Given the description of an element on the screen output the (x, y) to click on. 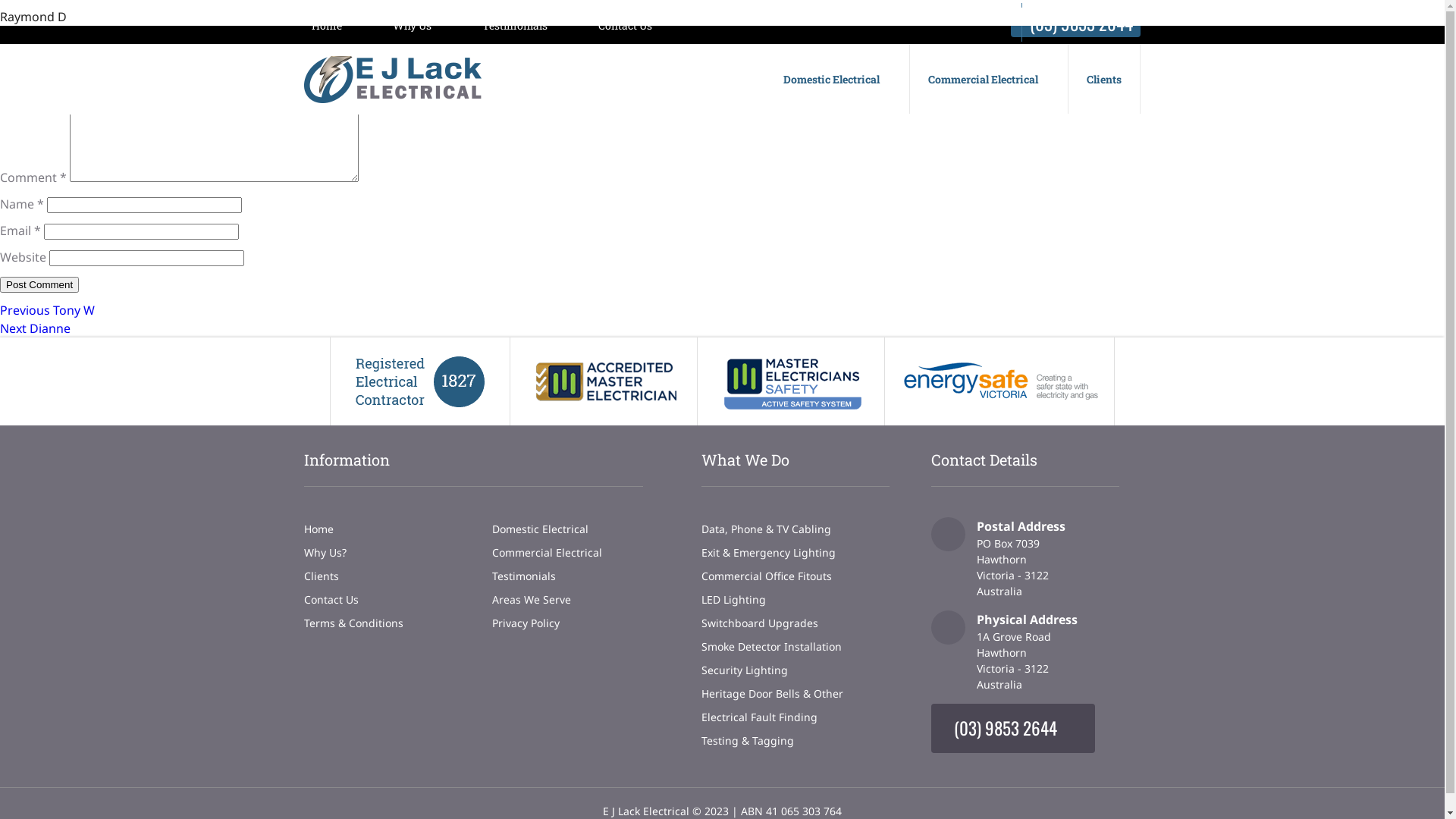
Switchboard Upgrades Element type: text (759, 622)
Privacy Policy Element type: text (525, 622)
Areas We Serve Element type: text (531, 599)
Electrical Fault Finding Element type: text (759, 716)
Why Us Element type: text (412, 25)
Exit & Emergency Lighting Element type: text (768, 552)
Contact Us Element type: text (624, 25)
Smoke Detector Installation Element type: text (771, 646)
Domestic Electrical Element type: text (837, 78)
Why Us? Element type: text (325, 552)
Terms & Conditions Element type: text (353, 622)
Testimonials Element type: text (523, 575)
Commercial Office Fitouts Element type: text (766, 575)
Commercial Electrical Element type: text (547, 552)
LED Lighting Element type: text (733, 599)
Testing & Tagging Element type: text (747, 740)
(03) 9853 2644 Element type: text (999, 727)
Clients Element type: text (321, 575)
Home Element type: text (318, 528)
Data, Phone & TV Cabling Element type: text (766, 528)
Contact Us Element type: text (331, 599)
Security Lighting Element type: text (744, 669)
Post Comment Element type: text (39, 284)
Heritage Door Bells & Other Element type: text (772, 693)
Clients Element type: text (1104, 78)
Home Element type: text (326, 25)
Domestic Electrical Element type: text (540, 528)
Next
Next post:
Dianne Element type: text (35, 328)
Testimonials Element type: text (514, 25)
Commercial Electrical Element type: text (989, 78)
Previous
Previous post:
Tony W Element type: text (47, 309)
(03) 9853 2644 Element type: text (1075, 23)
